Given the description of an element on the screen output the (x, y) to click on. 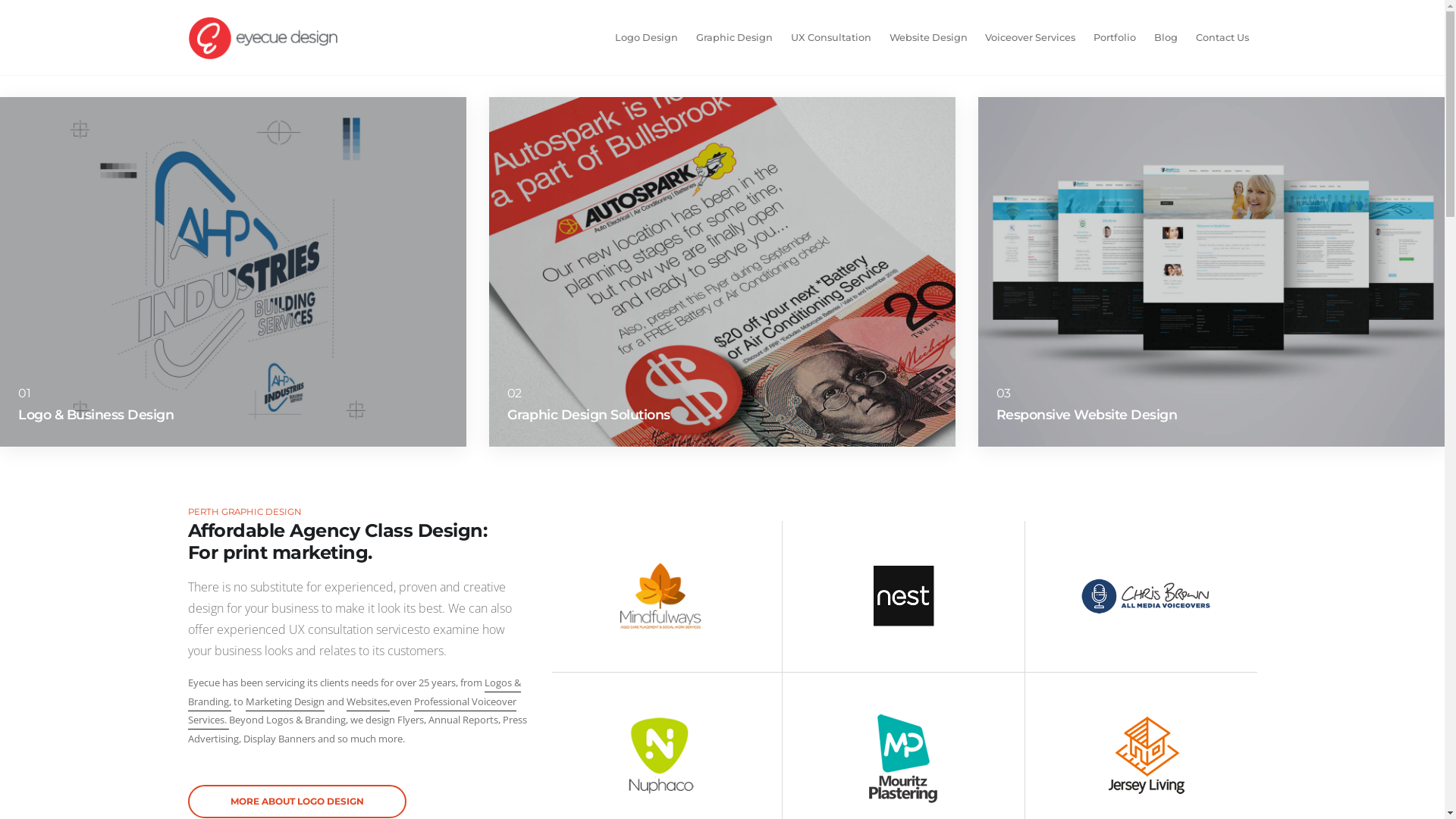
02
Graphic Design Solutions Element type: text (722, 271)
Graphic Design Element type: text (734, 37)
Marketing Design Element type: text (284, 702)
MORE ABOUT LOGO DESIGN Element type: text (297, 801)
Blog Element type: text (1165, 37)
Voiceover Services Element type: text (1029, 37)
Contact Us Element type: text (1222, 37)
Logos & Branding, Element type: text (354, 693)
UX Consultation Element type: text (830, 37)
Websites, Element type: text (367, 702)
Portfolio Element type: text (1114, 37)
Professional Voiceover Services. Element type: text (352, 712)
03
Responsive Website Design Element type: text (1211, 271)
Logo Design Element type: text (646, 37)
Website Design Element type: text (928, 37)
01
Logo & Business Design Element type: text (233, 271)
